Given the description of an element on the screen output the (x, y) to click on. 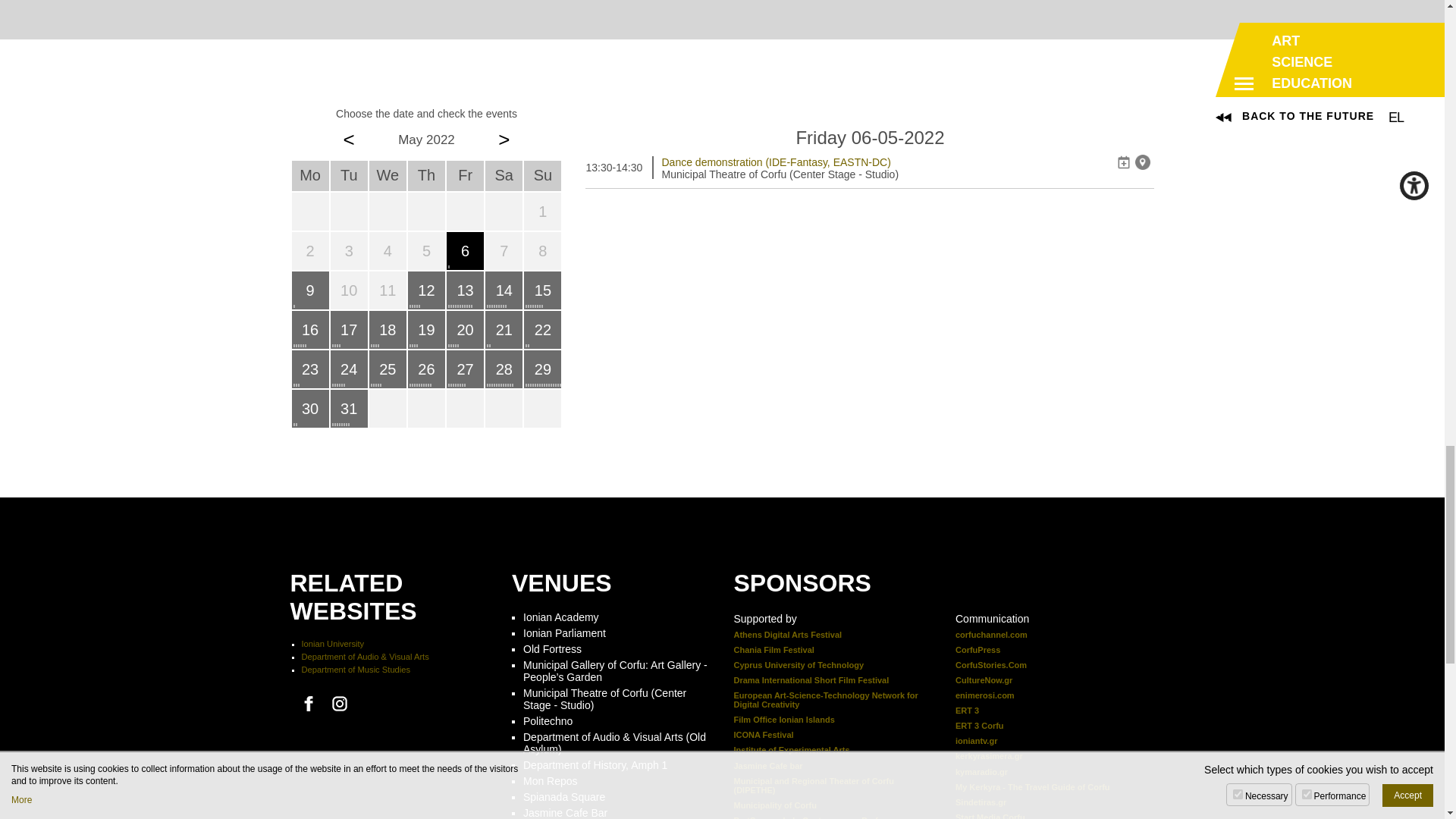
05-05-2022 (426, 250)
08-05-2022 (542, 250)
11-05-2022 (387, 290)
07-05-2022 (503, 250)
10-05-2022 (349, 290)
04-05-2022 (387, 250)
Ionian University (333, 643)
03-05-2022 (349, 250)
01-05-2022 (542, 211)
02-05-2022 (310, 250)
